Given the description of an element on the screen output the (x, y) to click on. 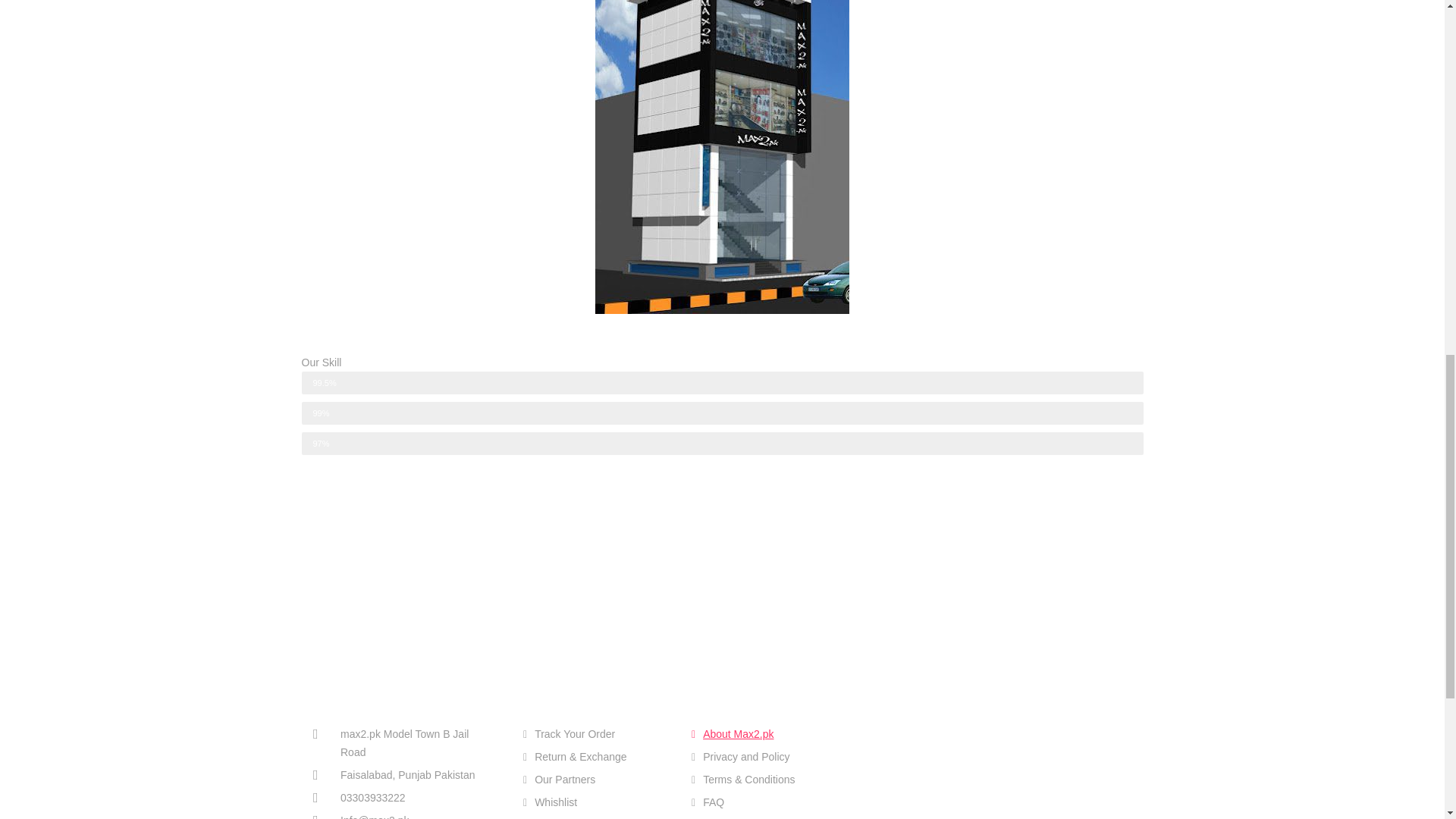
About Max2.pk (764, 733)
Track Your Order (595, 733)
03303933222 (404, 797)
max2.pk Model Town B Jail Road (404, 742)
Our Partners (595, 779)
Max2.pk  (954, 756)
FAQ (764, 802)
Privacy and Policy (764, 756)
Whishlist (595, 802)
Faisalabad, Punjab Pakistan (404, 774)
Blog (764, 817)
